Given the description of an element on the screen output the (x, y) to click on. 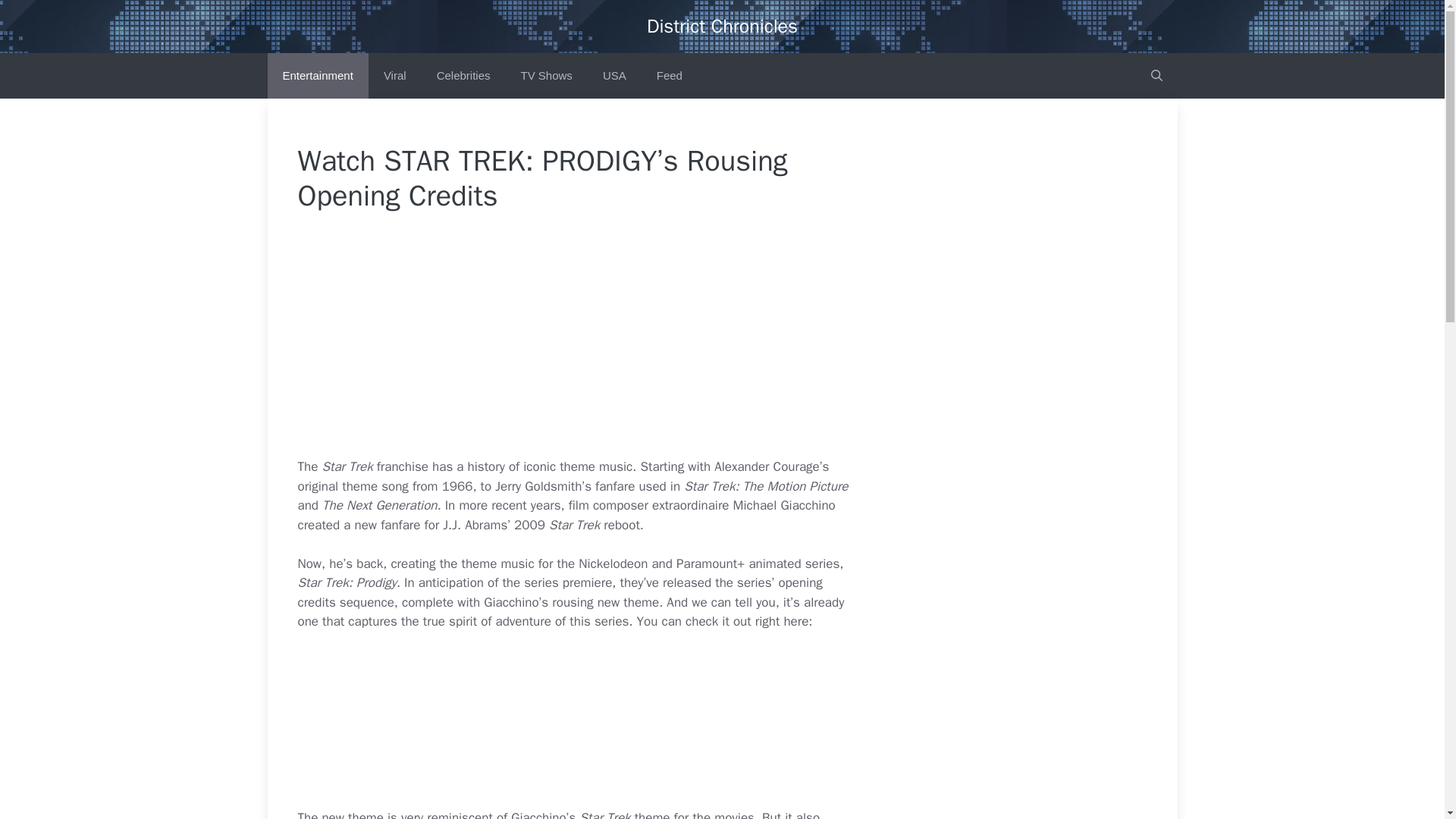
District Chronicles (721, 25)
Feed (669, 75)
Advertisement (611, 345)
Entertainment (317, 75)
The Next Generation (378, 505)
Celebrities (463, 75)
Viral (395, 75)
TV Shows (546, 75)
USA (615, 75)
Advertisement (611, 726)
